Given the description of an element on the screen output the (x, y) to click on. 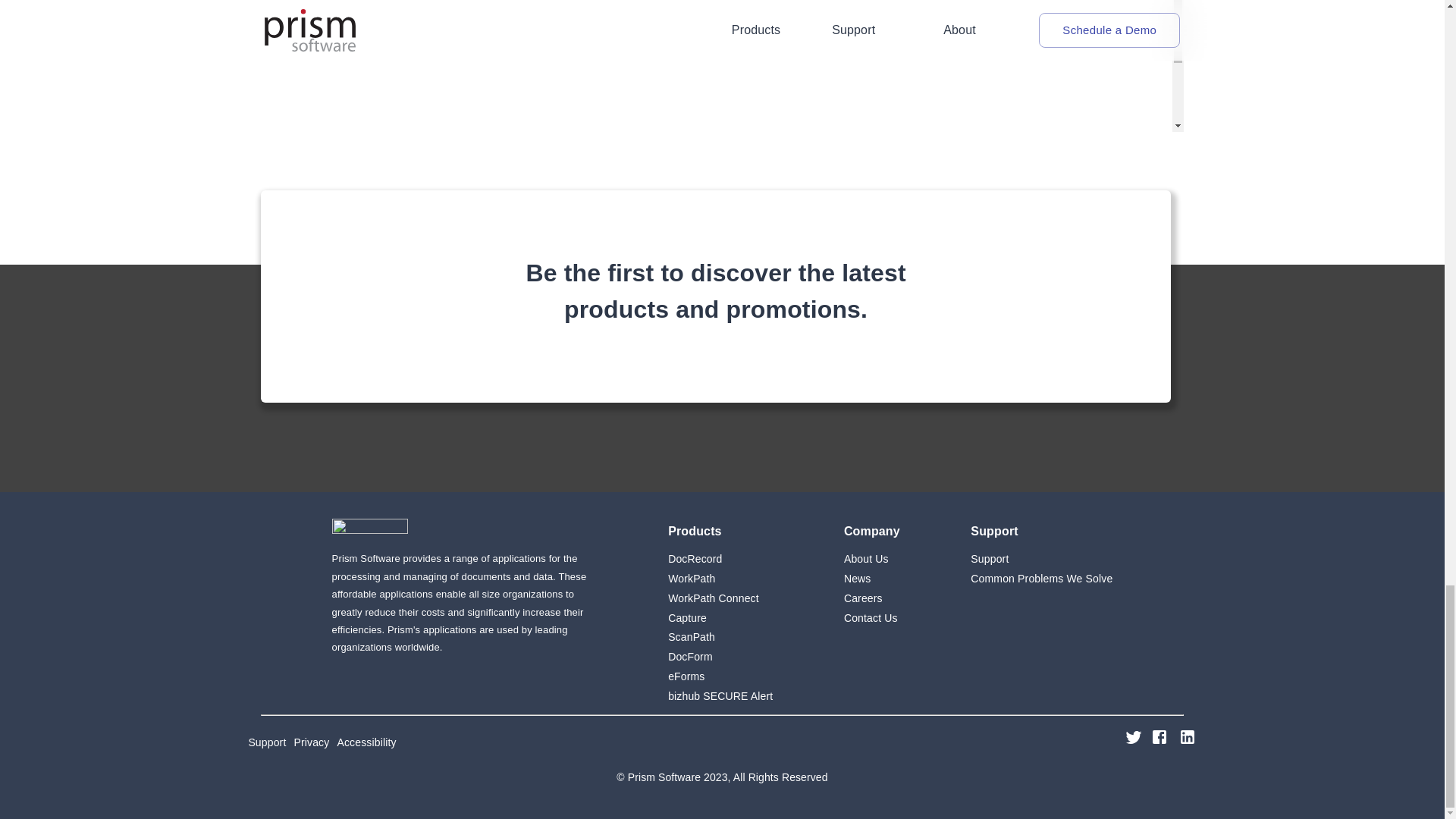
WorkPath (720, 578)
Prism Software (369, 528)
Careers (871, 598)
About Us (871, 559)
DocForm (720, 657)
Accessibility (730, 742)
Support (1041, 559)
DocRecord (720, 559)
bizhub SECURE Alert (720, 696)
News (871, 578)
